Given the description of an element on the screen output the (x, y) to click on. 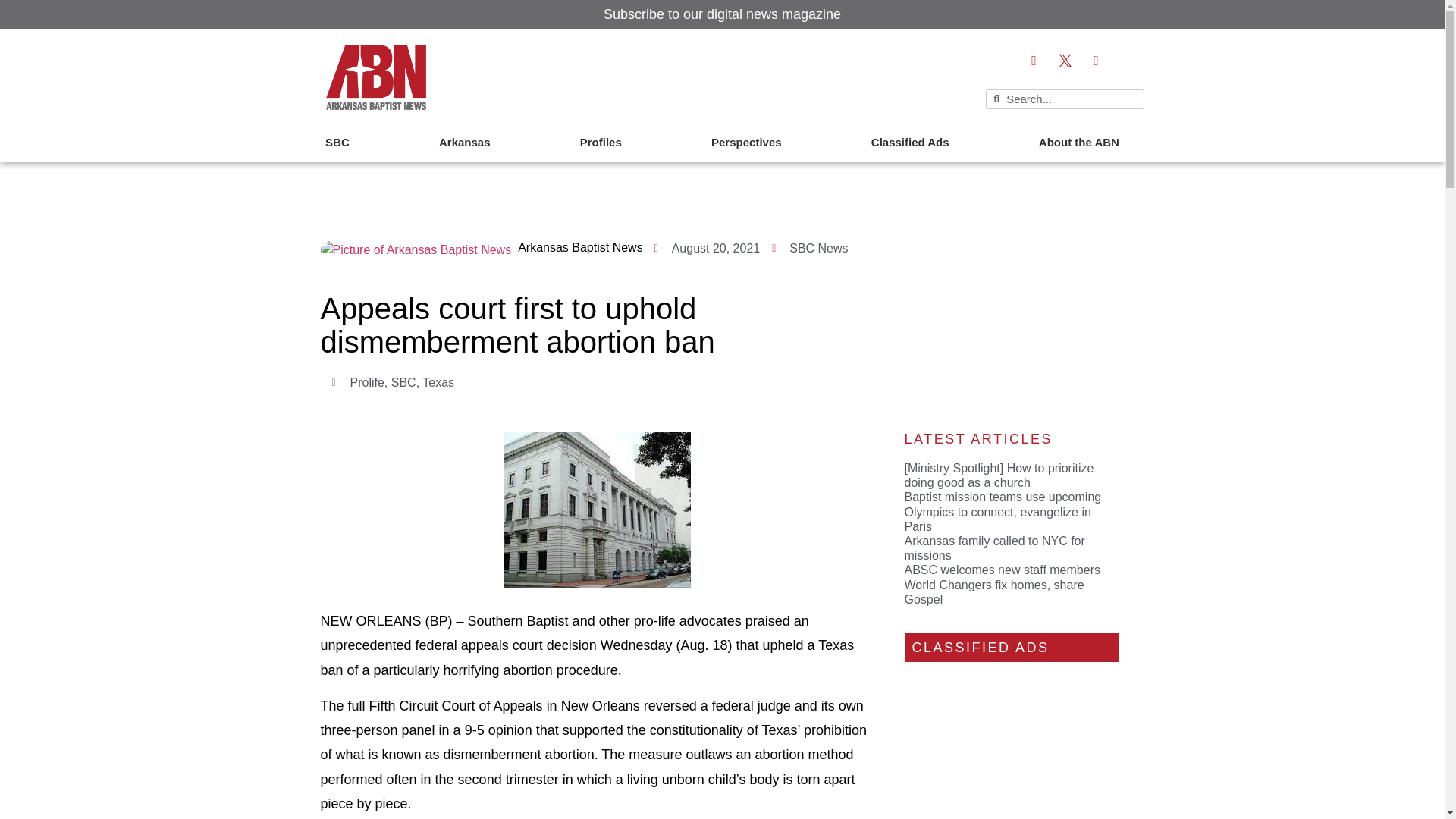
Classified Ads (910, 142)
About the ABN (1078, 142)
Perspectives (746, 142)
Arkansas (464, 142)
SBC (337, 142)
Subscribe to our digital news magazine (722, 14)
Profiles (600, 142)
